Given the description of an element on the screen output the (x, y) to click on. 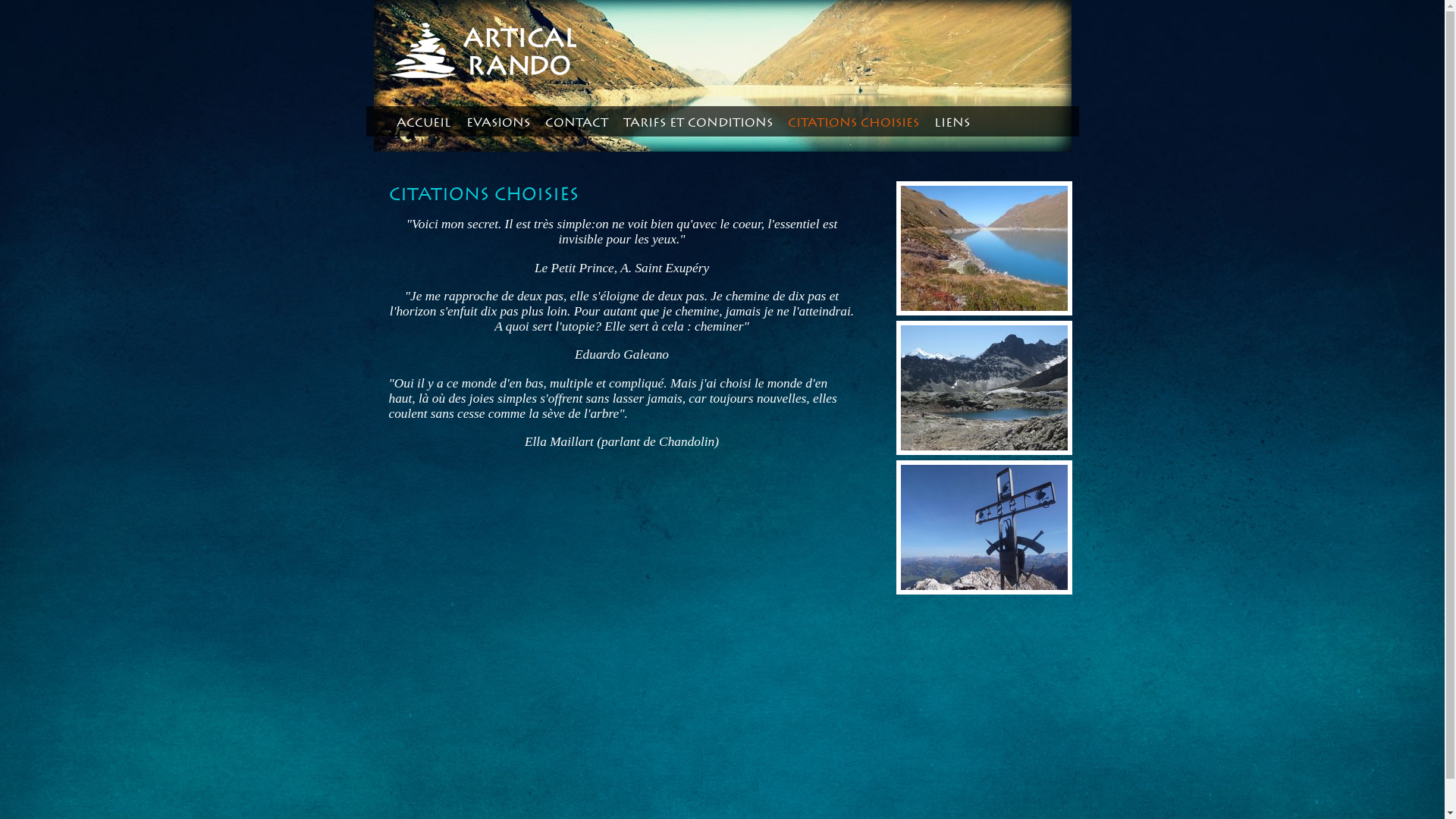
ACCUEIL Element type: text (422, 123)
TARIFS ET CONDITIONS Element type: text (697, 123)
CITATIONS CHOISIES Element type: text (852, 123)
CONTACT Element type: text (575, 123)
LIENS Element type: text (951, 123)
EVASIONS Element type: text (497, 123)
